Given the description of an element on the screen output the (x, y) to click on. 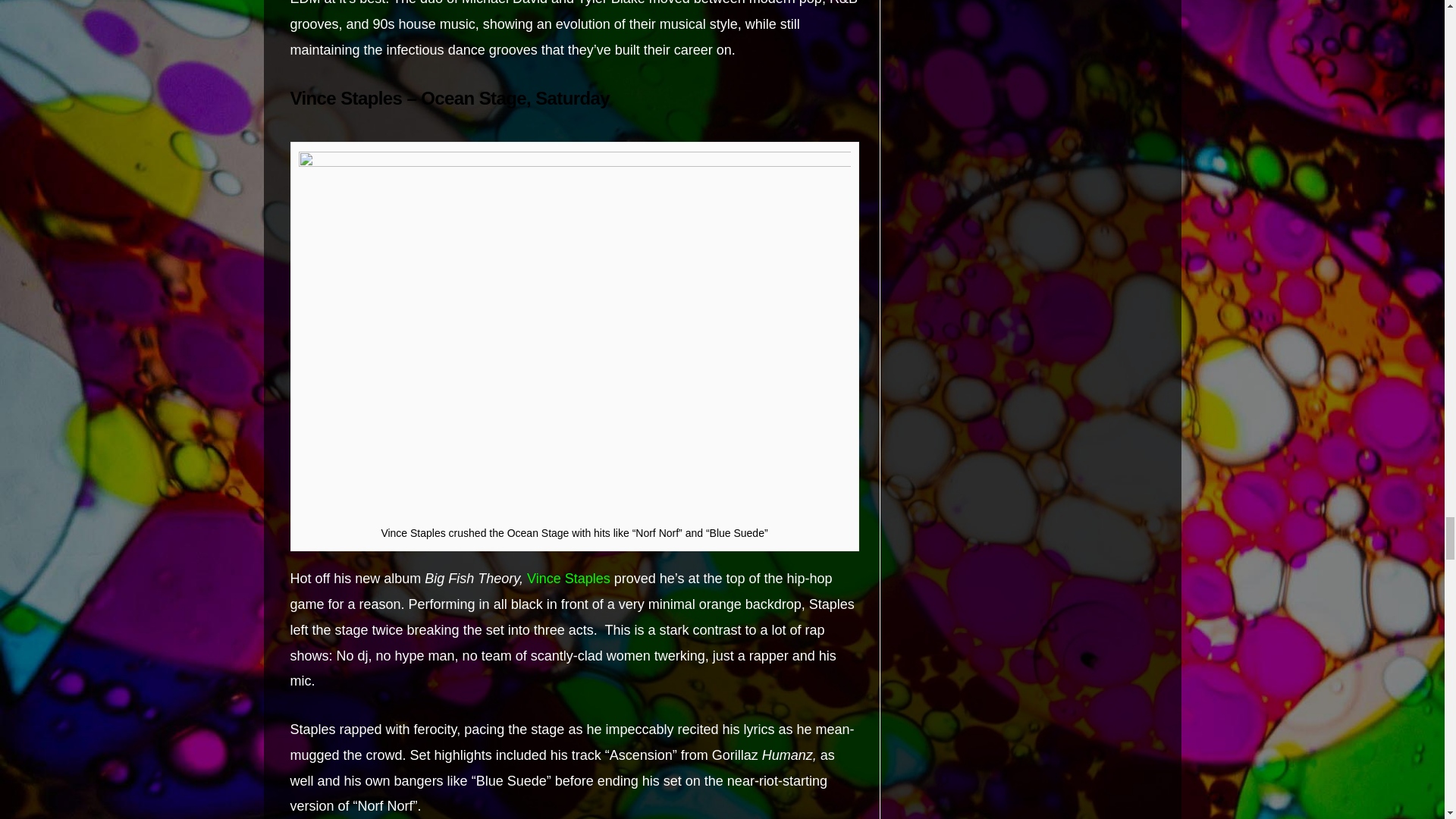
Vince Staples (568, 578)
